Given the description of an element on the screen output the (x, y) to click on. 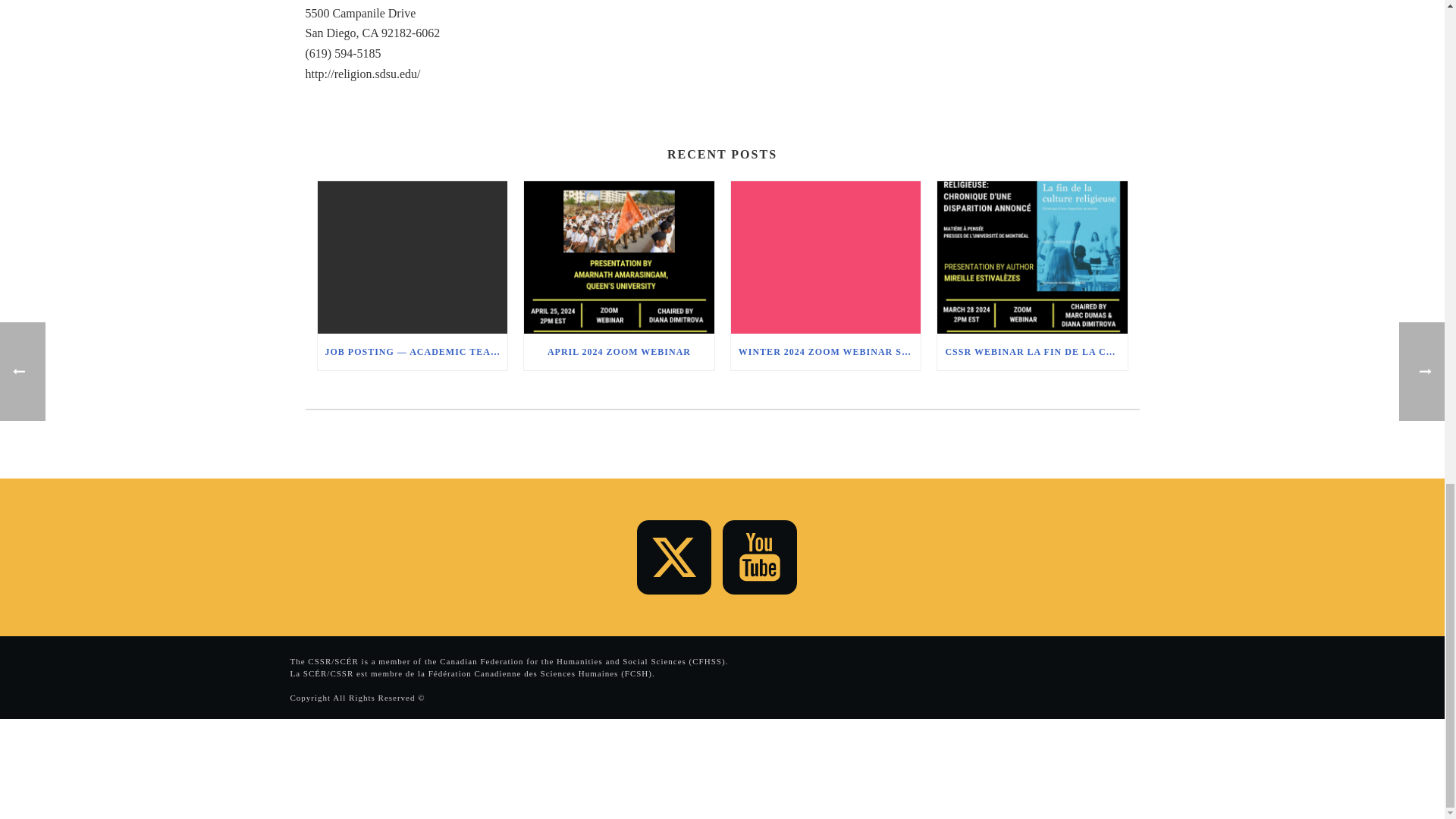
Follow Us on twitter (674, 557)
April 2024 Zoom Webinar (619, 256)
Follow Us on youtube (759, 557)
Winter 2024 Zoom Webinar Series (825, 256)
